Given the description of an element on the screen output the (x, y) to click on. 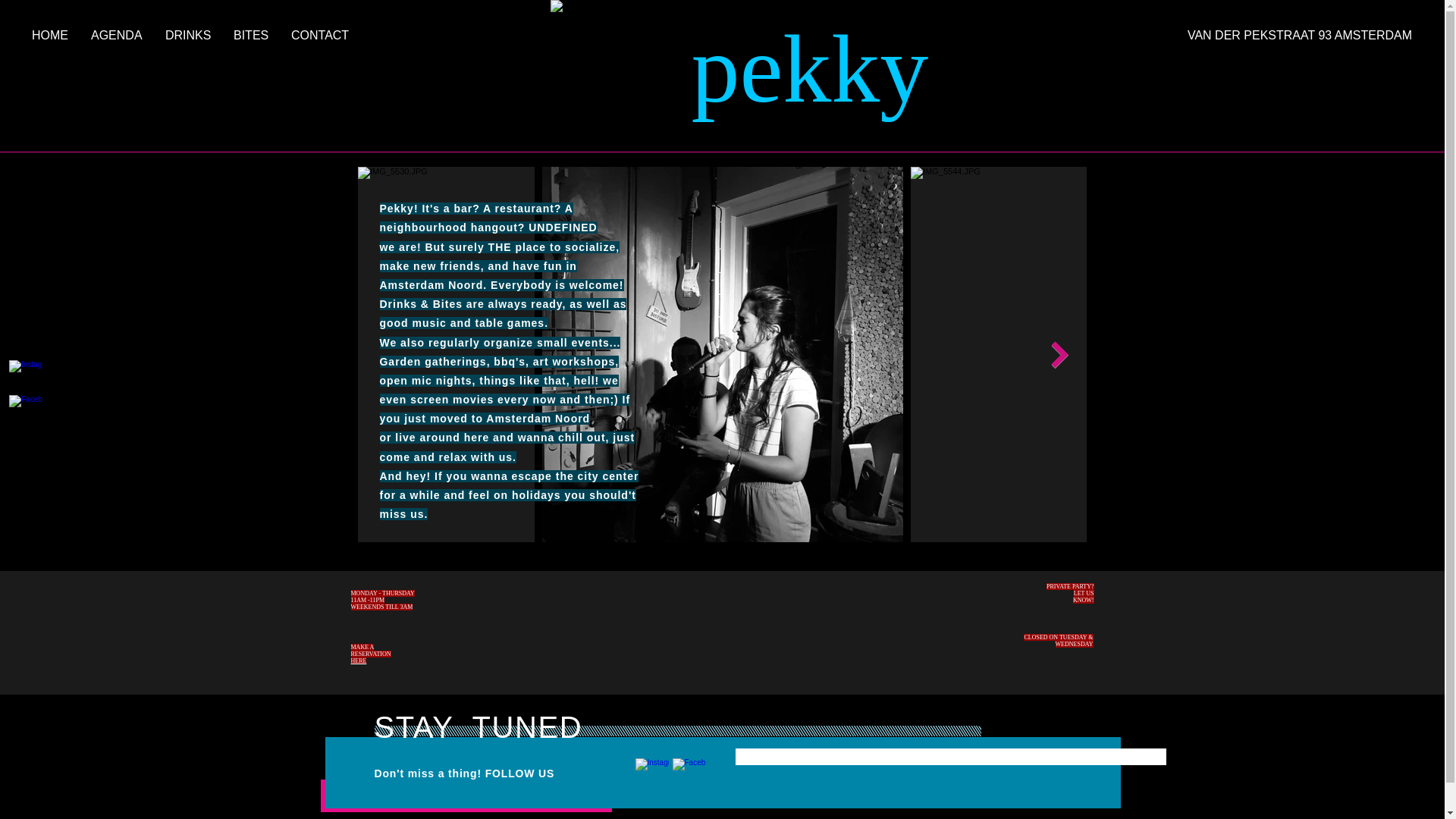
VAN DER PEKSTRAAT 93 AMSTERDAM (1268, 35)
DRINKS (188, 35)
AGENDA (117, 35)
BITES (250, 35)
HERE (358, 660)
CONTACT (319, 35)
HOME (50, 35)
